Given the description of an element on the screen output the (x, y) to click on. 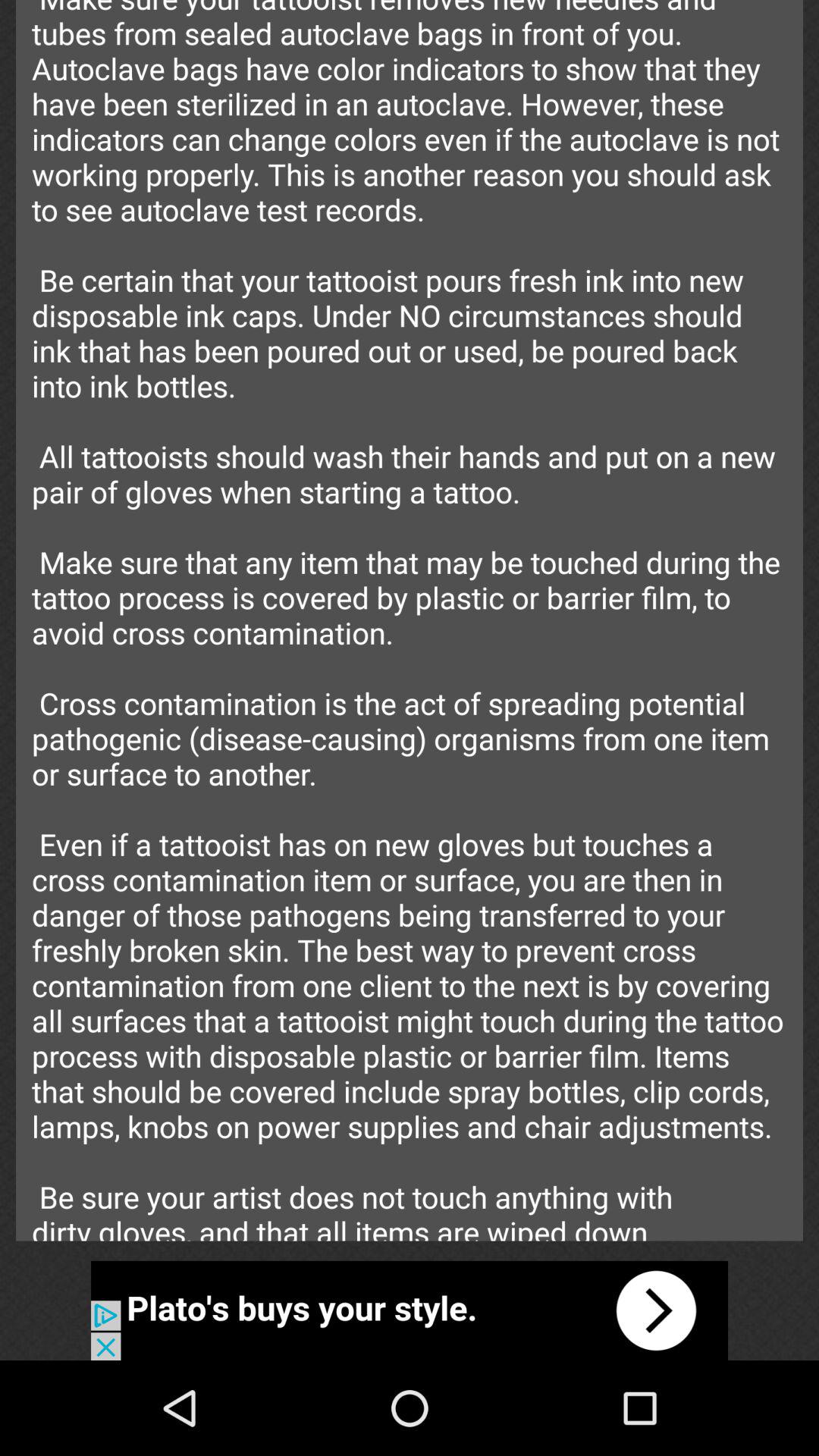
advertisement (409, 1310)
